Given the description of an element on the screen output the (x, y) to click on. 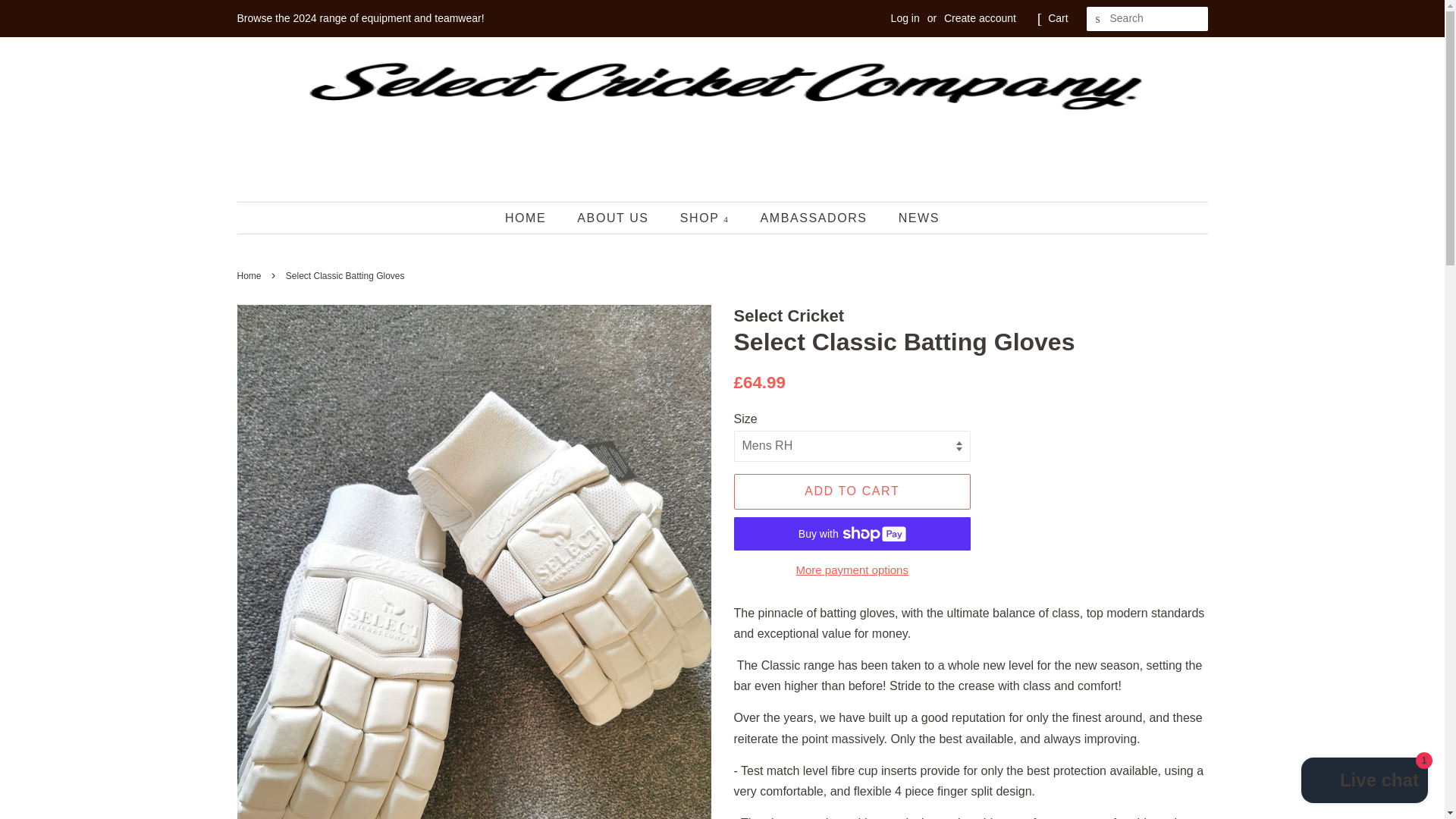
Log in (905, 18)
NEWS (912, 217)
SHOP (706, 217)
ABOUT US (614, 217)
AMBASSADORS (815, 217)
Shopify online store chat (1364, 781)
SEARCH (1097, 18)
Cart (1057, 18)
HOME (532, 217)
Back to the frontpage (249, 276)
Browse the 2024 range of equipment and teamwear! (359, 18)
Create account (979, 18)
